Given the description of an element on the screen output the (x, y) to click on. 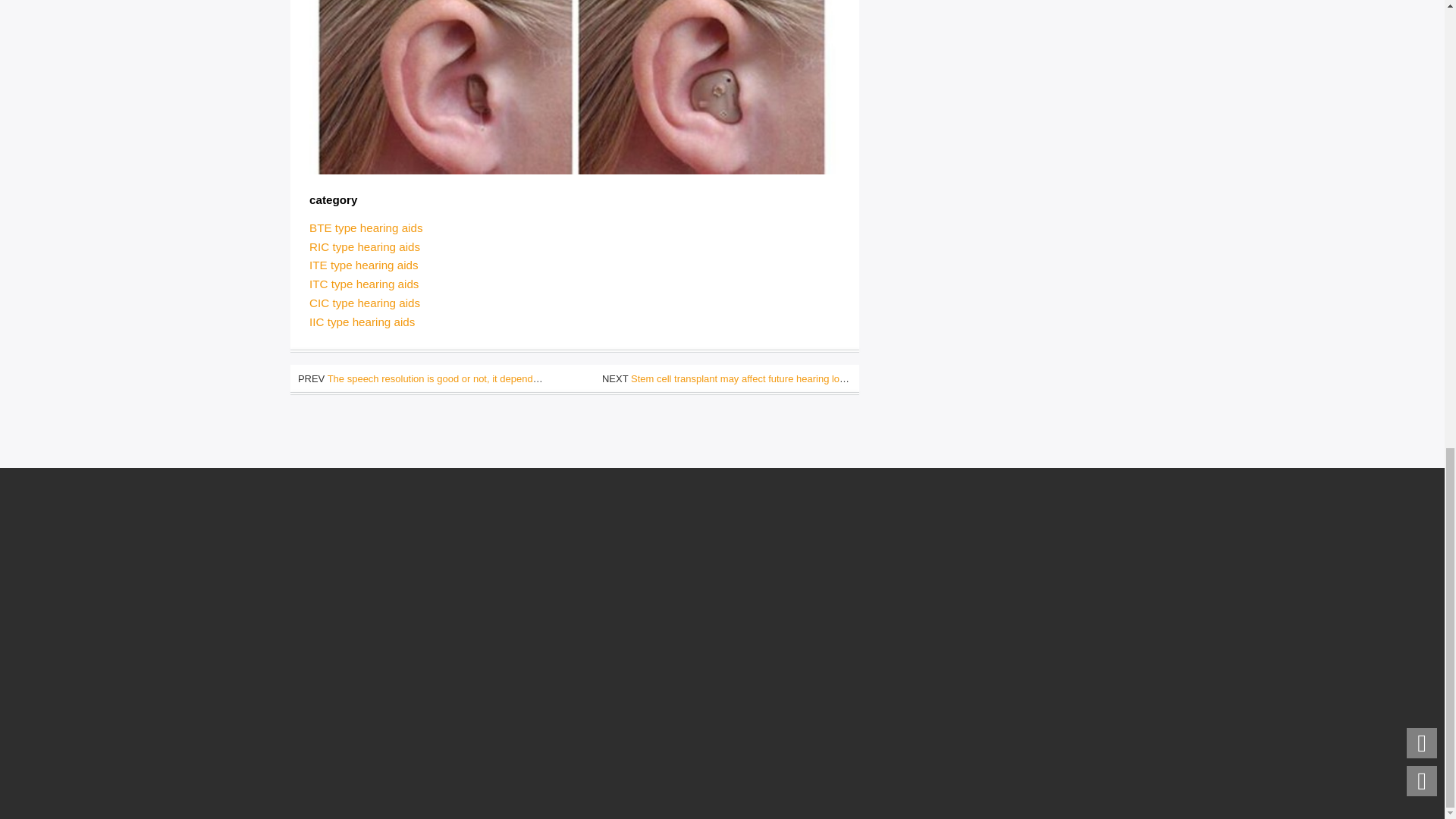
RIC type hearing aids (364, 246)
ITC type hearing aids (363, 283)
CIC type hearing aids (364, 302)
IIC hearing aids (361, 321)
RIC hearing aids (364, 246)
IIC type hearing aids (361, 321)
ITE hearing aids (363, 264)
BTE type hearing aids (365, 227)
ITE type hearing aids (363, 264)
CIC hearing aids (364, 302)
BTE hearing aids (365, 227)
